Given the description of an element on the screen output the (x, y) to click on. 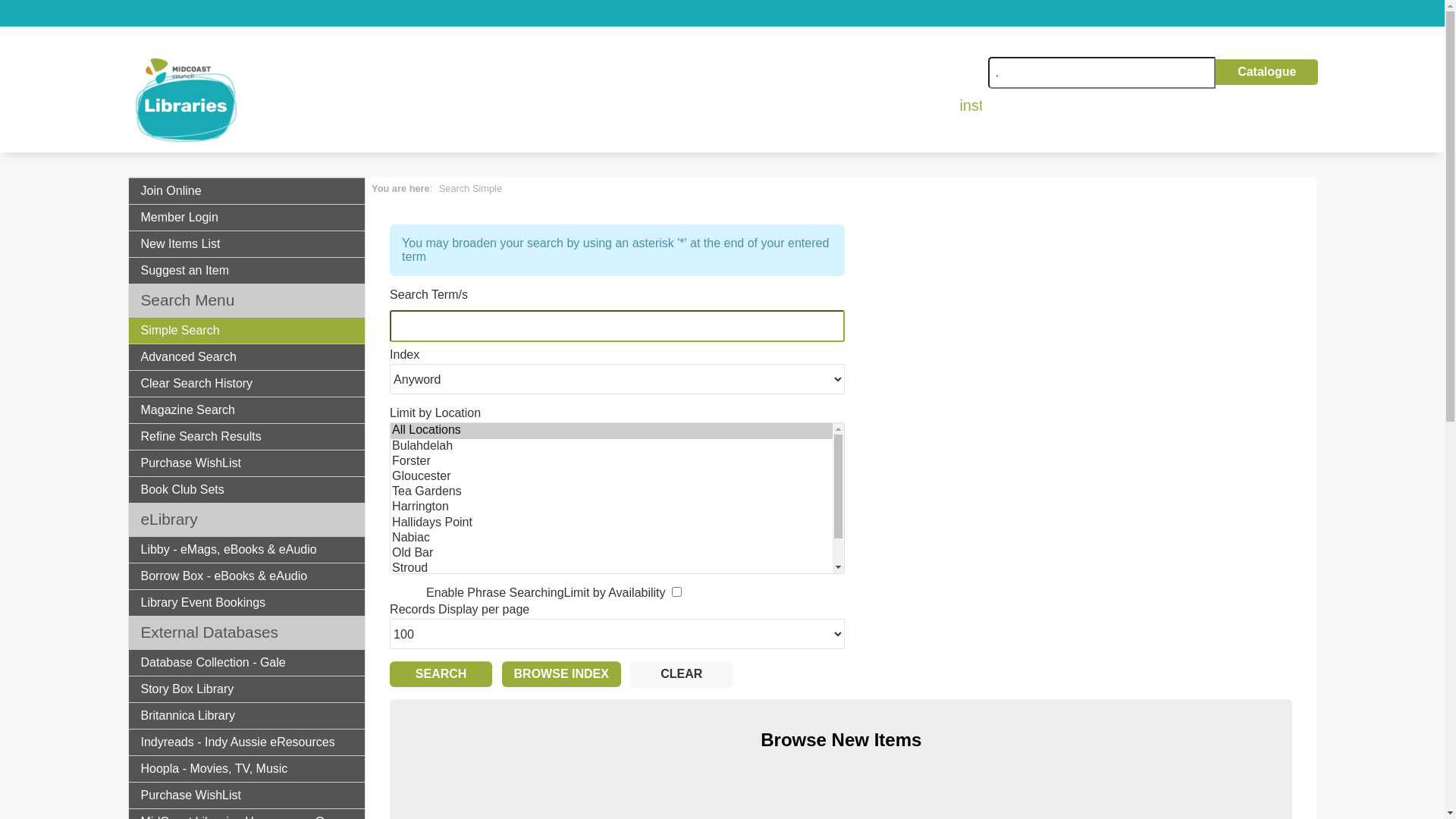
Hoopla - Movies, TV, Music Element type: text (246, 768)
Library Event Bookings Element type: text (246, 602)
Member Login Element type: text (246, 216)
Purchase WishList Element type: text (246, 794)
SEARCH Element type: text (440, 674)
Catalogue Element type: text (1266, 71)
Britannica Library Element type: text (246, 715)
Alt-2 Element type: hover (561, 674)
Simple Search Element type: text (246, 329)
Borrow Box - eBooks & eAudio Element type: text (246, 575)
New Items List Element type: text (246, 243)
BROWSE INDEX Element type: text (561, 674)
Indyreads - Indy Aussie eResources Element type: text (246, 741)
Database Collection - Gale Element type: text (246, 662)
Libby - eMags, eBooks & eAudio Element type: text (246, 549)
Alt-1 Element type: hover (440, 674)
Clear Search History Element type: text (246, 383)
Purchase WishList Element type: text (246, 462)
Alt-4 Element type: hover (681, 674)
Story Box Library Element type: text (246, 688)
Refine Search Results Element type: text (246, 436)
Magazine Search Element type: text (246, 409)
Book Club Sets Element type: text (246, 489)
instagram Element type: text (970, 105)
Advanced Search Element type: text (246, 356)
Join Online Element type: text (246, 190)
Suggest an Item Element type: text (246, 270)
MidCoast Libraries Element type: hover (185, 99)
